Given the description of an element on the screen output the (x, y) to click on. 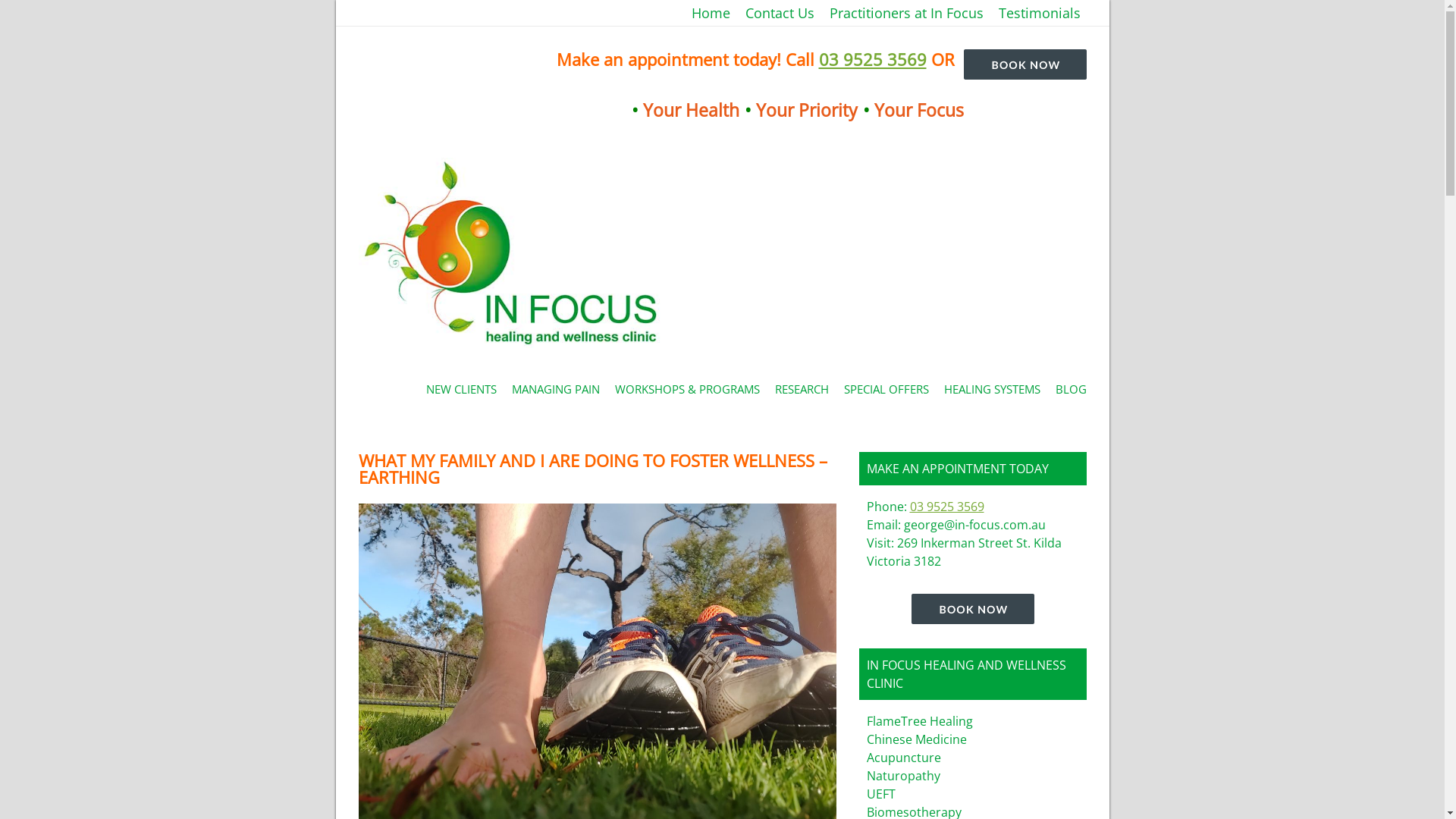
MANAGING PAIN Element type: text (555, 388)
Contact Us Element type: hover (649, 12)
In Focus Team Element type: hover (664, 12)
Home Element type: text (710, 12)
SPECIAL OFFERS Element type: text (885, 388)
BLOG Element type: text (1070, 388)
NEW CLIENTS Element type: text (461, 388)
HEALING SYSTEMS Element type: text (991, 388)
03 9525 3569 Element type: text (947, 506)
Testimonials Element type: hover (679, 12)
03 9525 3569 Element type: text (872, 58)
Home Element type: hover (633, 12)
Testimonials Element type: text (1038, 12)
Contact Us Element type: text (778, 12)
Practitioners at In Focus Element type: text (906, 12)
RESEARCH Element type: text (801, 388)
WORKSHOPS & PROGRAMS Element type: text (686, 388)
